Given the description of an element on the screen output the (x, y) to click on. 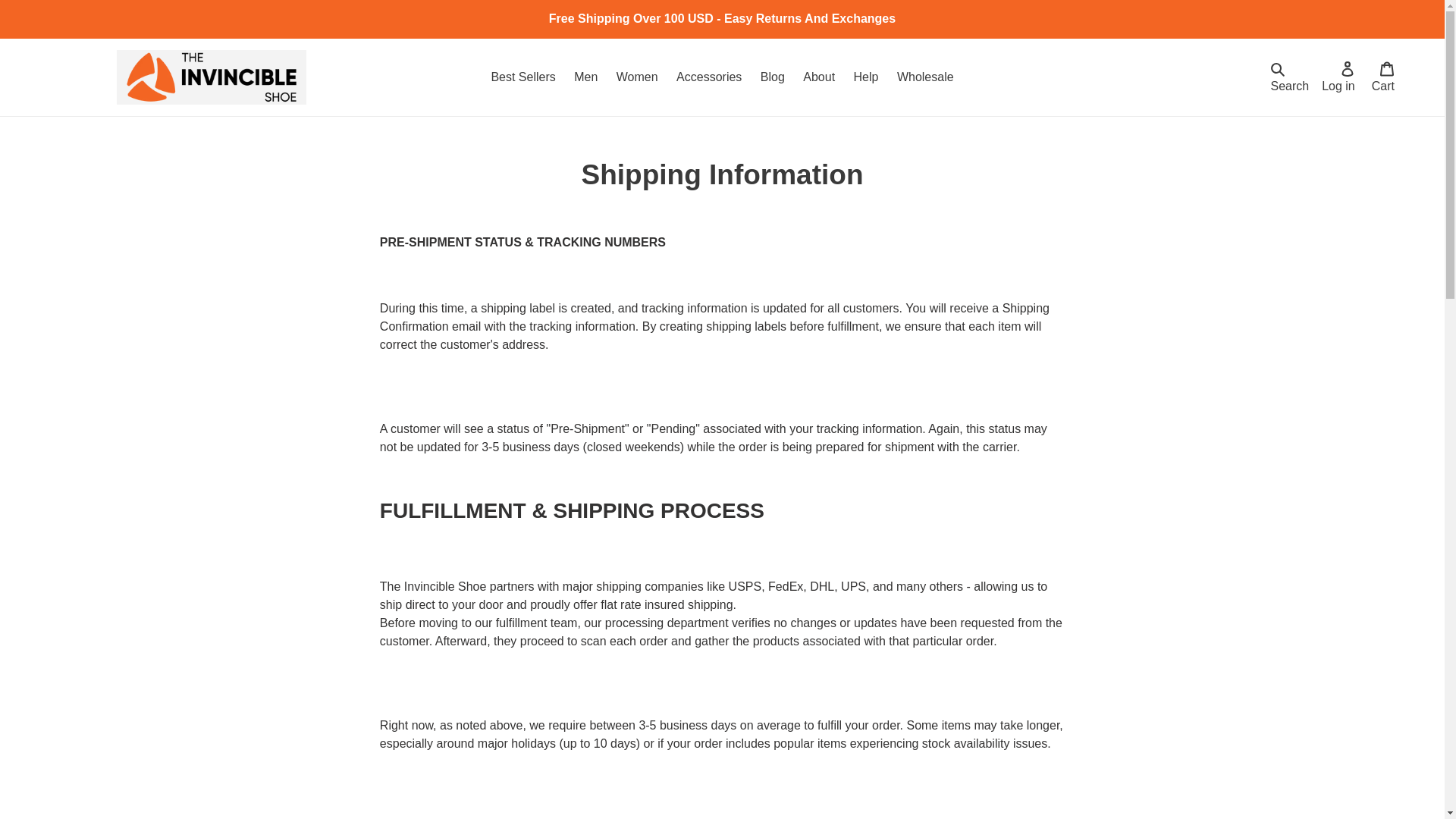
About (818, 77)
Log in (1337, 77)
Blog (772, 77)
Wholesale (924, 77)
Women (636, 77)
Help (865, 77)
Accessories (708, 77)
Best Sellers (522, 77)
Search (1289, 77)
Free Shipping Over 100 USD - Easy Returns And Exchanges (721, 18)
